Given the description of an element on the screen output the (x, y) to click on. 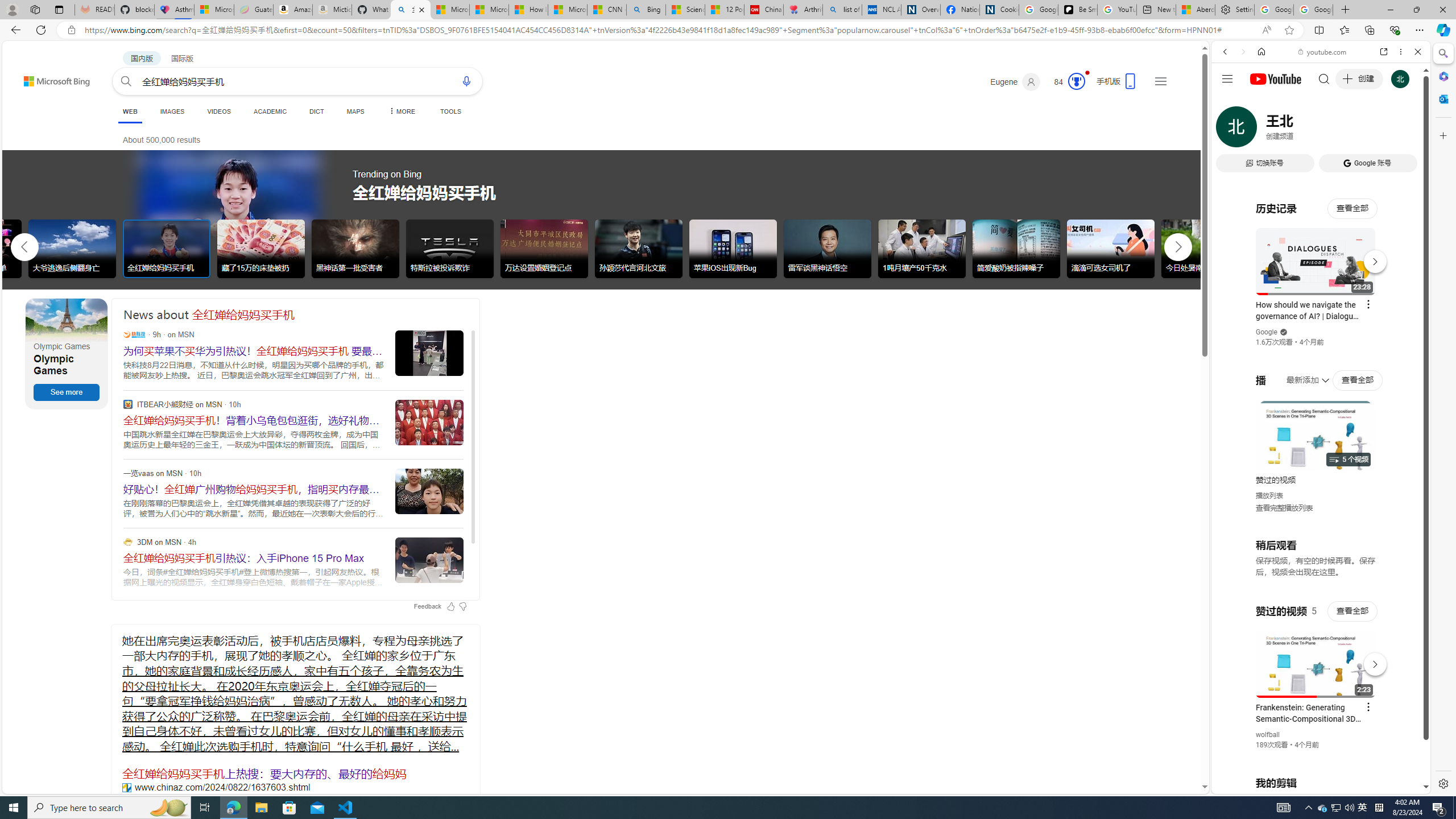
www.chinaz.com/2024/0822/1637603.shtml (126, 786)
Olympic Games Olympic Games See more (66, 353)
TOOLS (450, 111)
Forward (1242, 51)
ACADEMIC (269, 111)
Skip to content (35, 76)
WEB (129, 111)
